Given the description of an element on the screen output the (x, y) to click on. 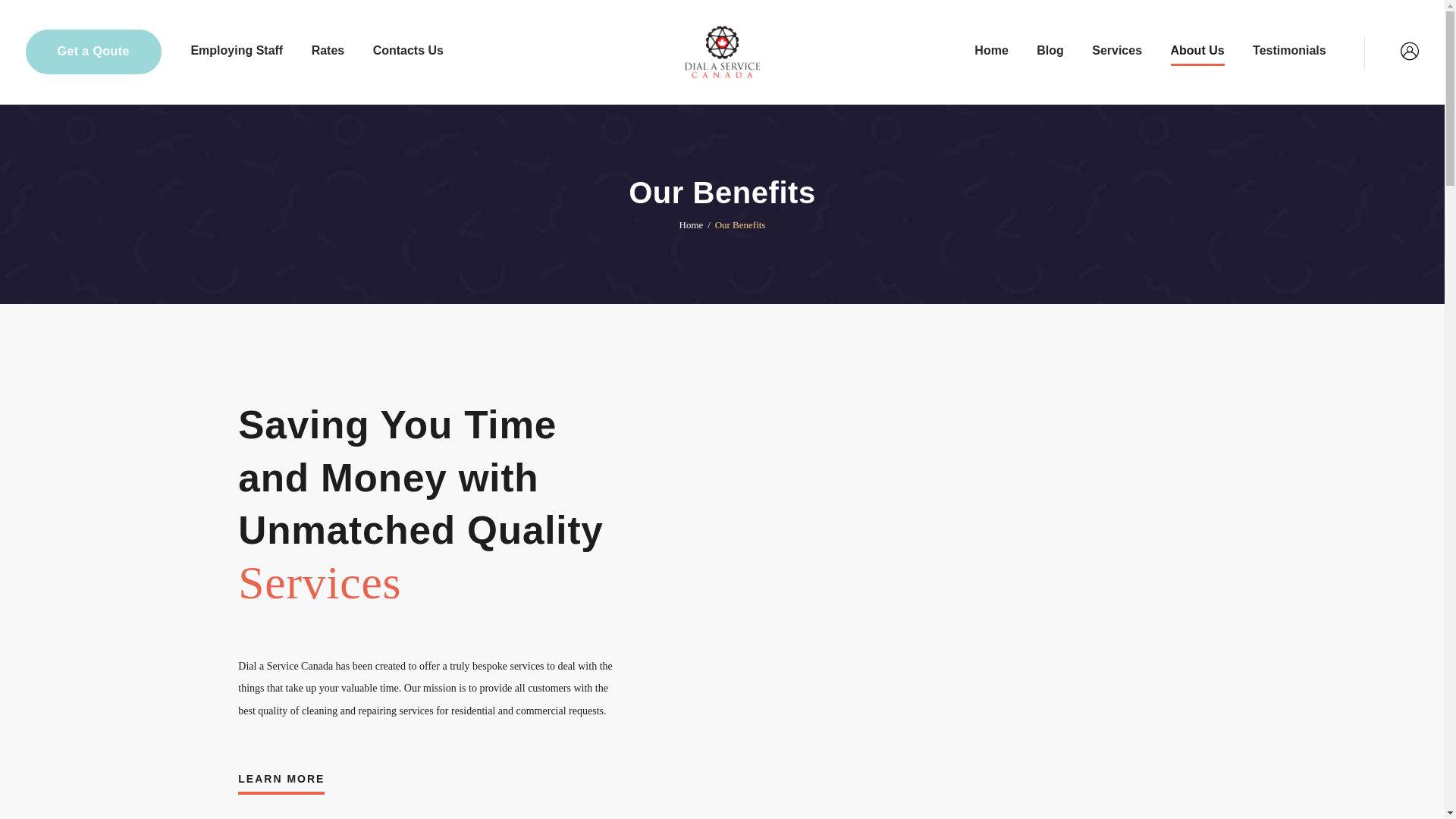
Rates (328, 51)
About Us (1197, 51)
Services (1116, 51)
Employing Staff (236, 51)
Get a Qoute (93, 51)
Home (691, 224)
Contacts Us (408, 51)
Blog (1050, 51)
Testimonials (1289, 51)
Home (990, 51)
LEARN MORE (281, 782)
